Given the description of an element on the screen output the (x, y) to click on. 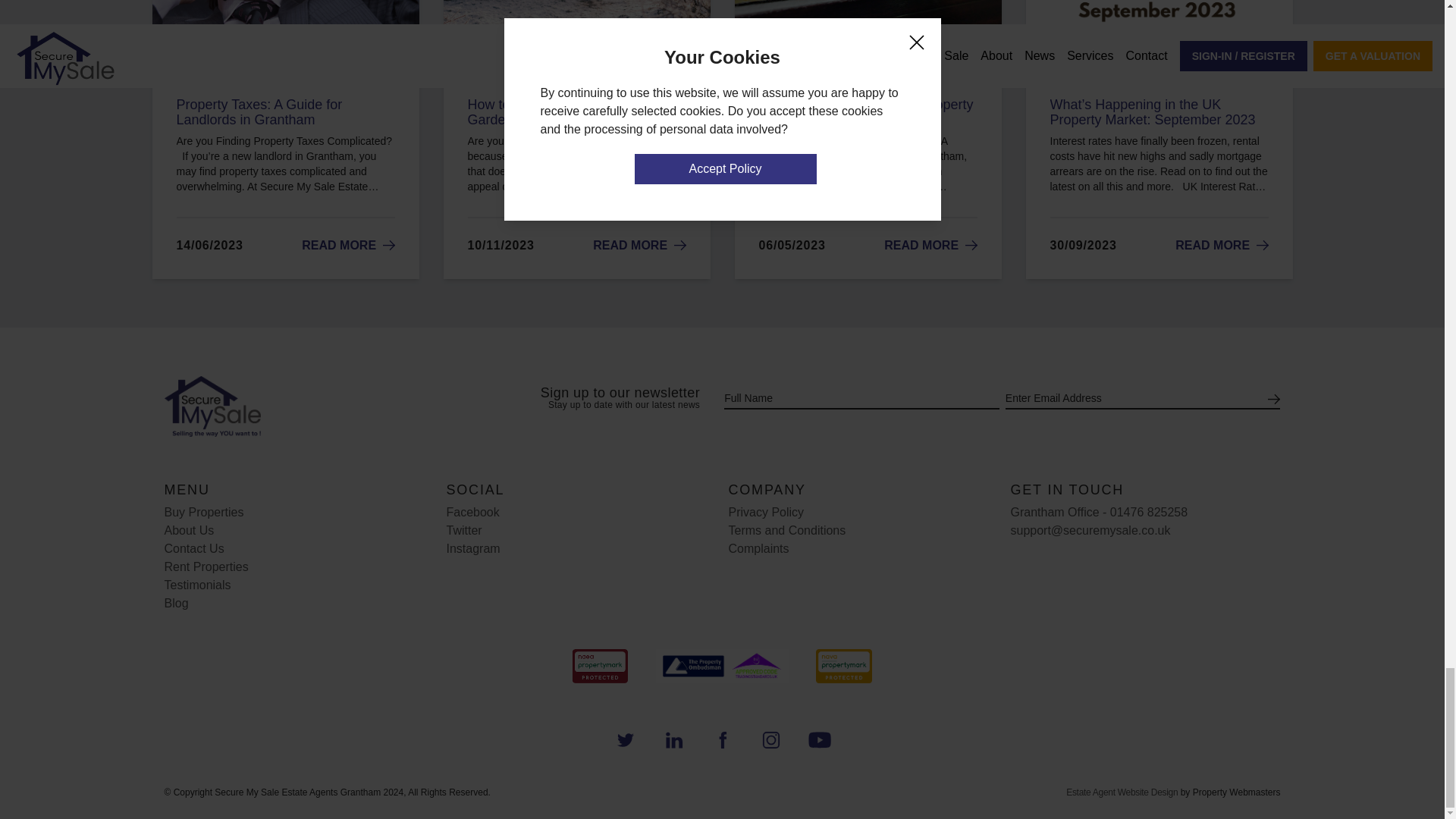
View Contact Us (193, 548)
How to Prepare Your Grantham Garden This Winter (576, 112)
View Testimonials (196, 584)
View Buy Properties (203, 512)
Back to homepage (302, 405)
View Rent Properties (205, 566)
How to Prepare Your Grantham Garden This Winter (638, 245)
View About Us (188, 530)
Property Taxes: A Guide for Landlords in Grantham (285, 112)
Property Taxes: A Guide for Landlords in Grantham (285, 112)
How to Prepare Your Grantham Garden This Winter (576, 112)
Property Taxes: A Guide for Landlords in Grantham (347, 245)
